Given the description of an element on the screen output the (x, y) to click on. 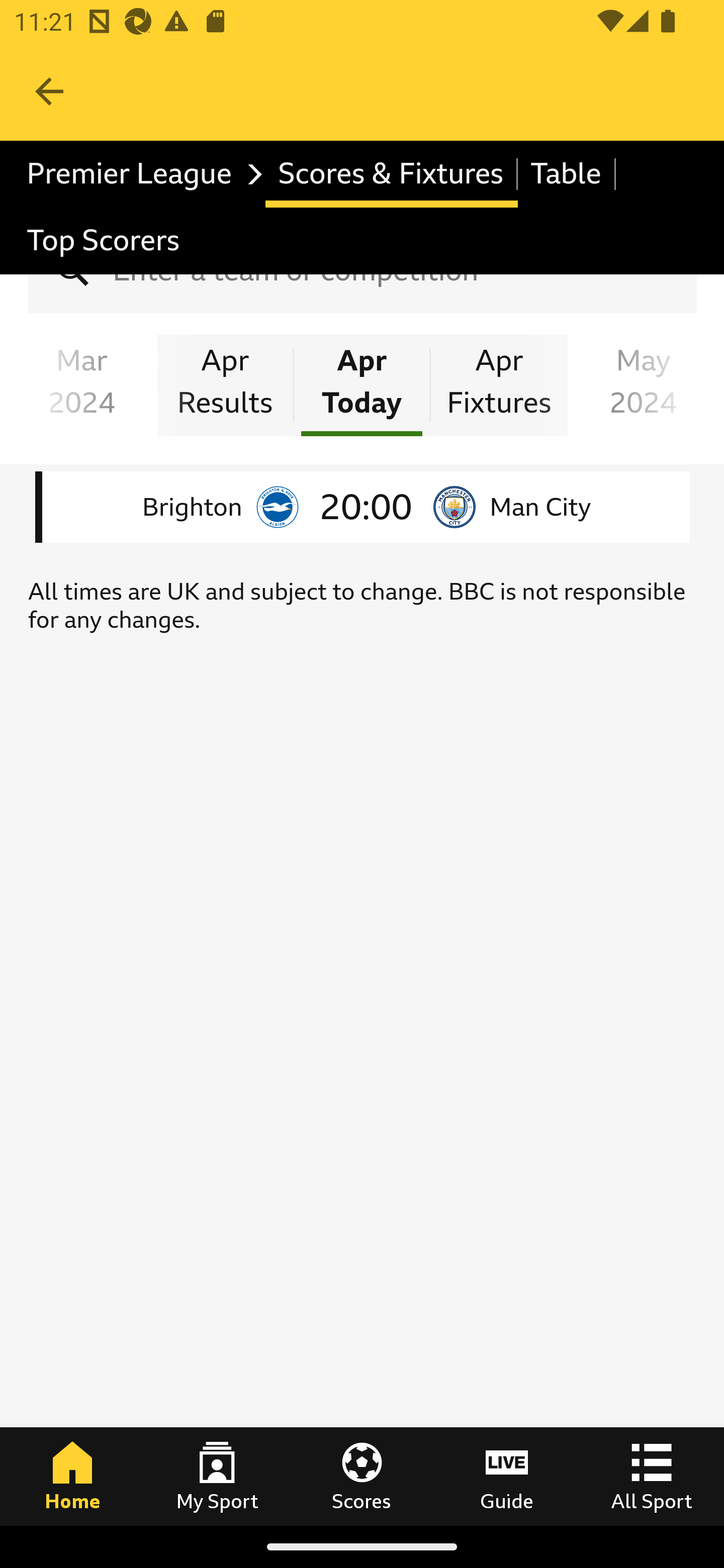
Navigate up (49, 91)
Premier League (140, 173)
Scores & Fixtures (391, 173)
Table (567, 173)
Top Scorers (103, 240)
My Sport (216, 1475)
Scores (361, 1475)
Guide (506, 1475)
All Sport (651, 1475)
Back to top (29, 1450)
